Given the description of an element on the screen output the (x, y) to click on. 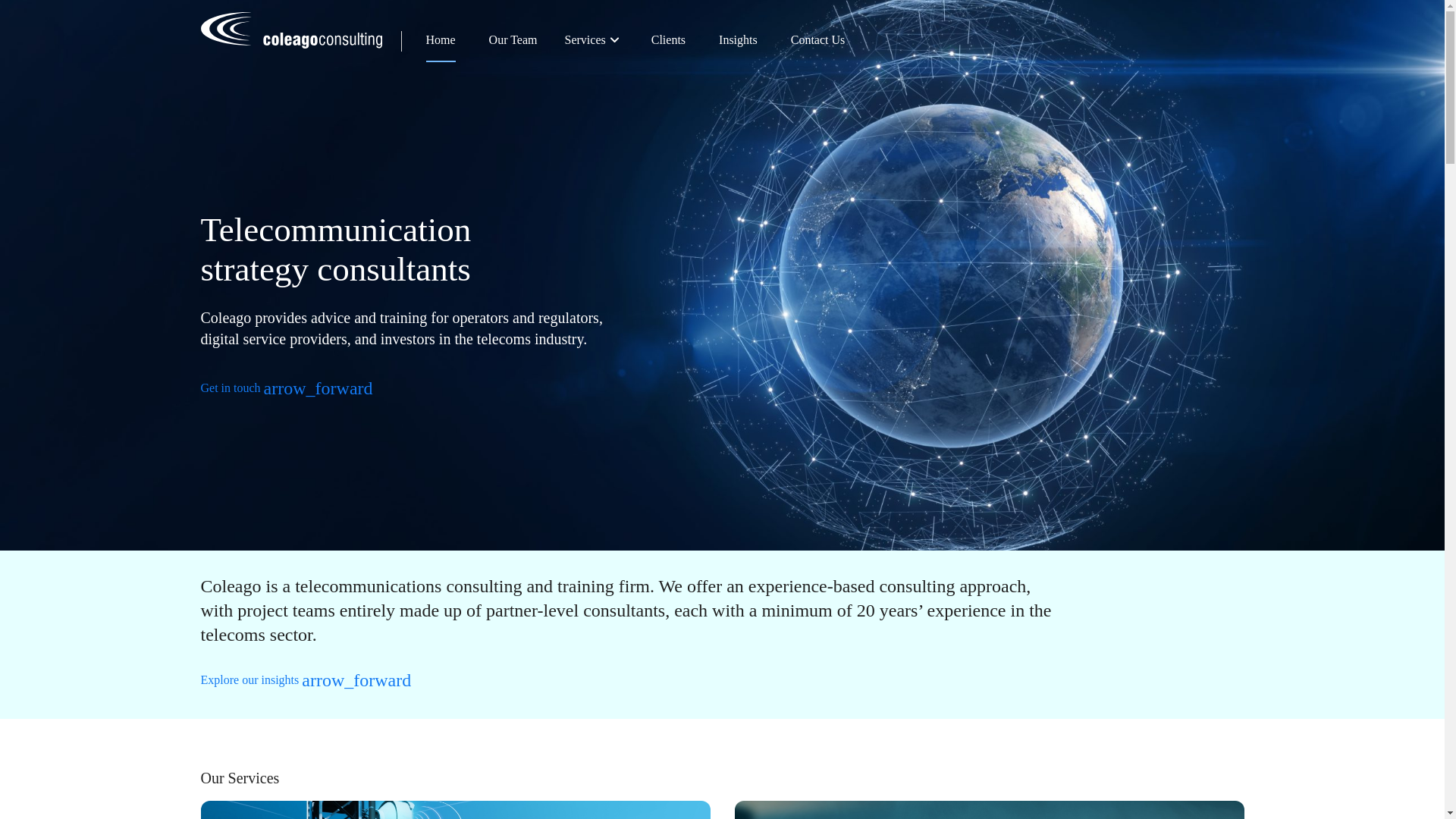
Clients (667, 40)
Home (440, 40)
Our Team (513, 40)
Services (594, 40)
Contact Us (817, 40)
Insights (738, 40)
